Given the description of an element on the screen output the (x, y) to click on. 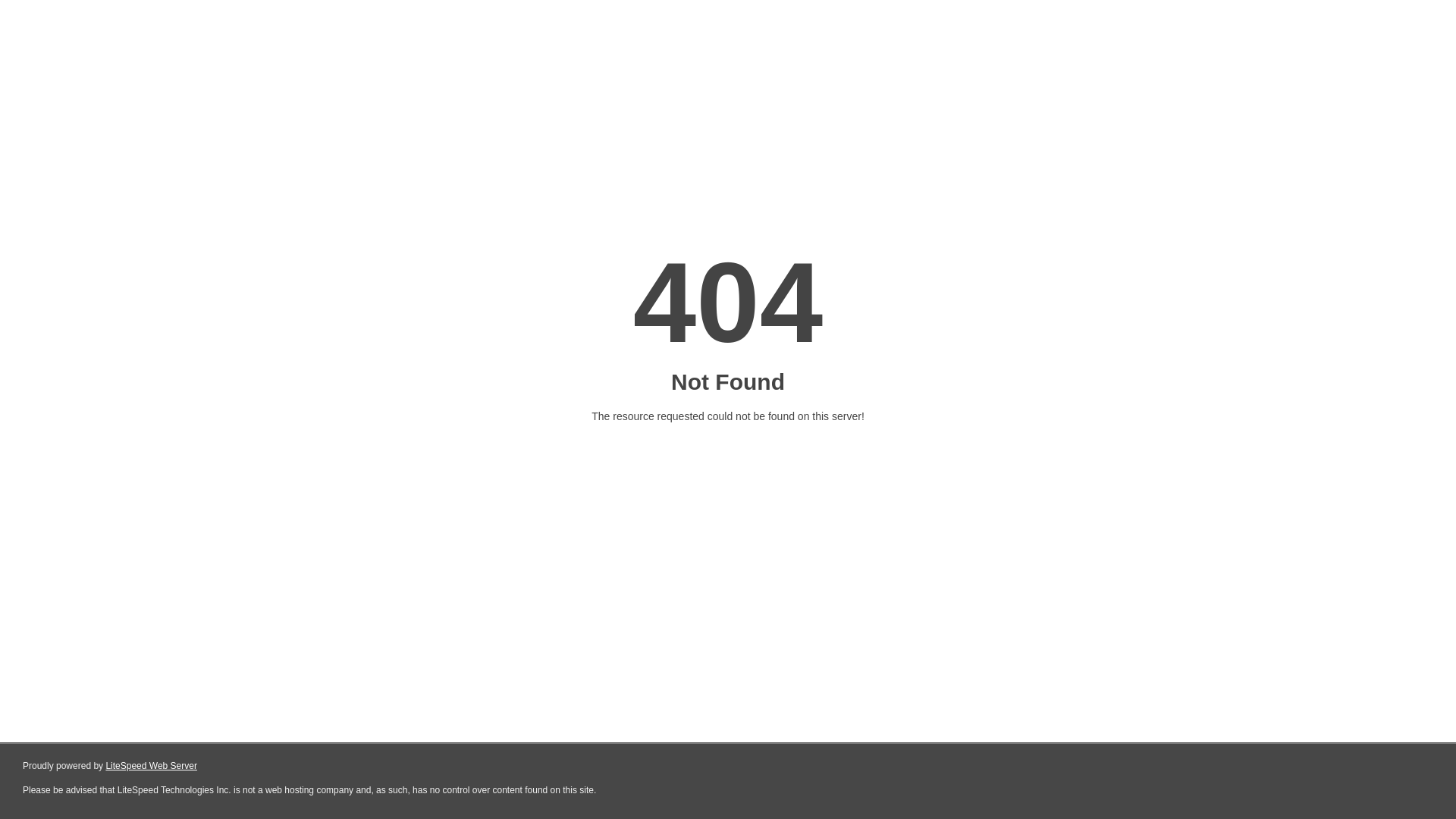
LiteSpeed Web Server Element type: text (151, 765)
